Given the description of an element on the screen output the (x, y) to click on. 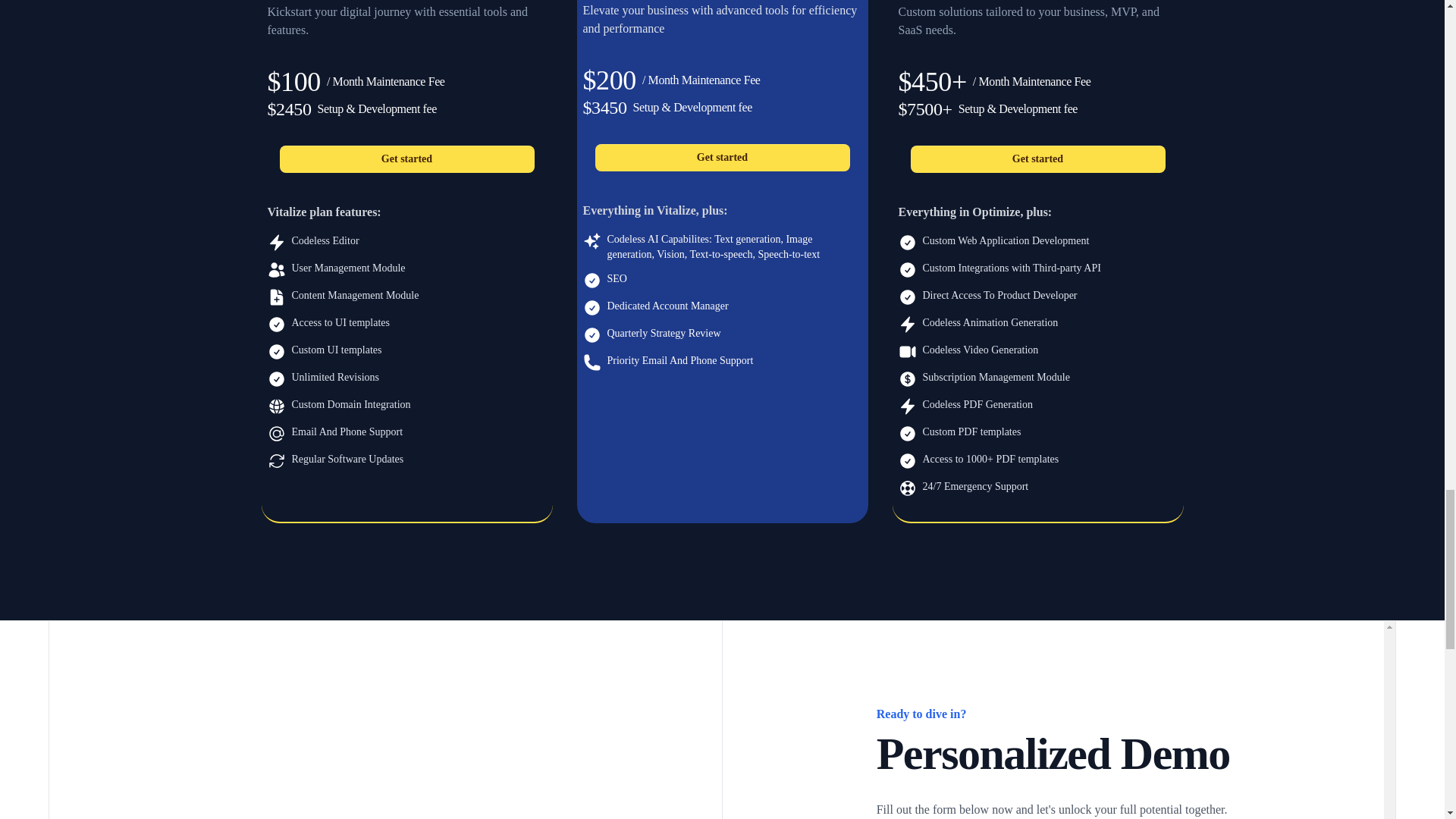
Get started (406, 158)
Get started (1037, 158)
Get started (721, 157)
